Given the description of an element on the screen output the (x, y) to click on. 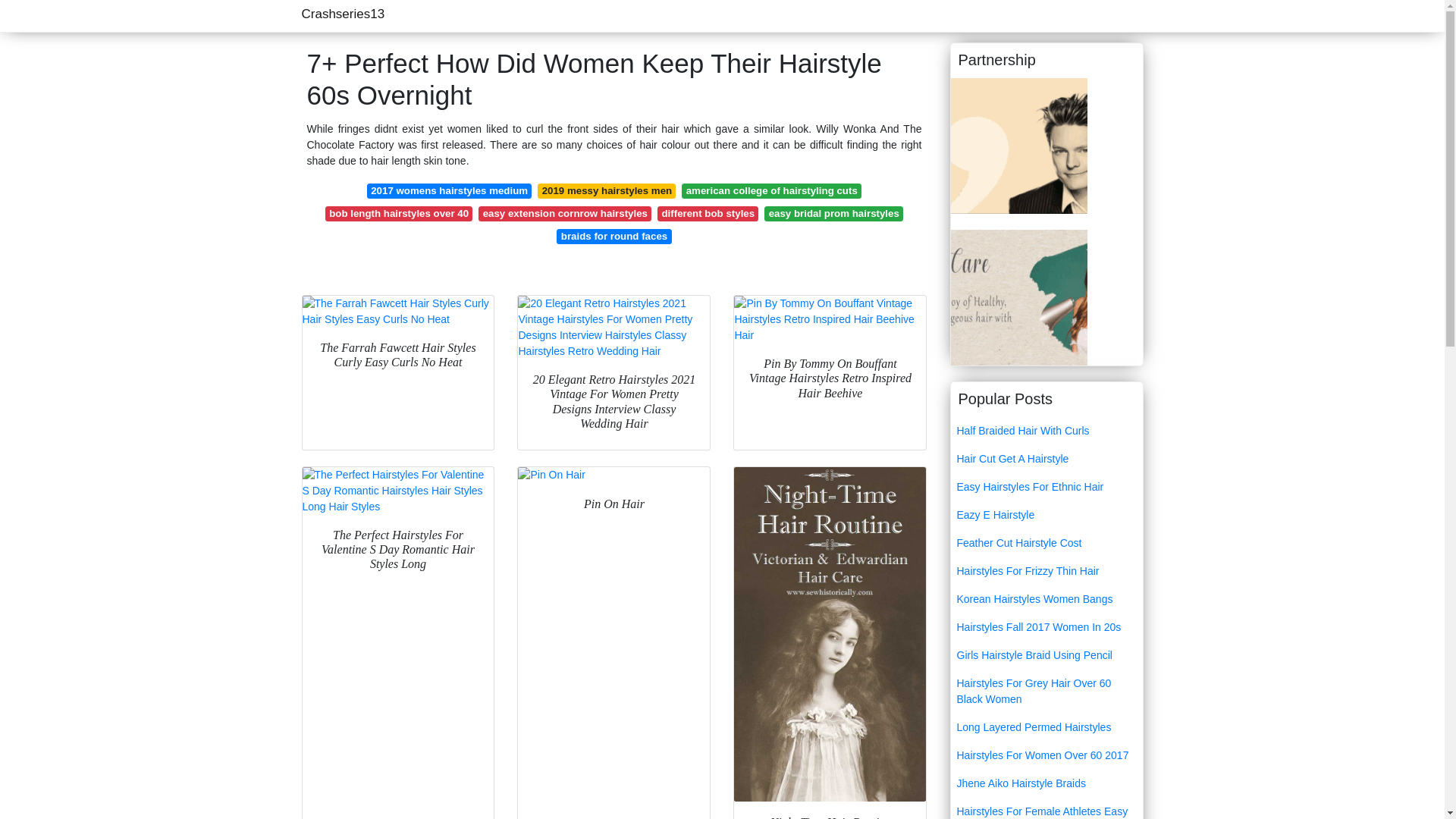
bob length hairstyles over 40 (398, 213)
easy extension cornrow hairstyles (564, 213)
braids for round faces (613, 236)
Easy Hairstyles For Ethnic Hair (1046, 487)
Half Braided Hair With Curls (1046, 430)
Long Layered Permed Hairstyles (1046, 727)
2019 messy hairstyles men (606, 191)
Crashseries13 (343, 13)
Hairstyles For Female Athletes Easy (1046, 808)
Feather Cut Hairstyle Cost (1046, 543)
Hair Cut Get A Hairstyle (1046, 459)
Girls Hairstyle Braid Using Pencil (1046, 655)
Pathlead4 (1018, 144)
american college of hairstyling cuts (771, 191)
easy bridal prom hairstyles (833, 213)
